Given the description of an element on the screen output the (x, y) to click on. 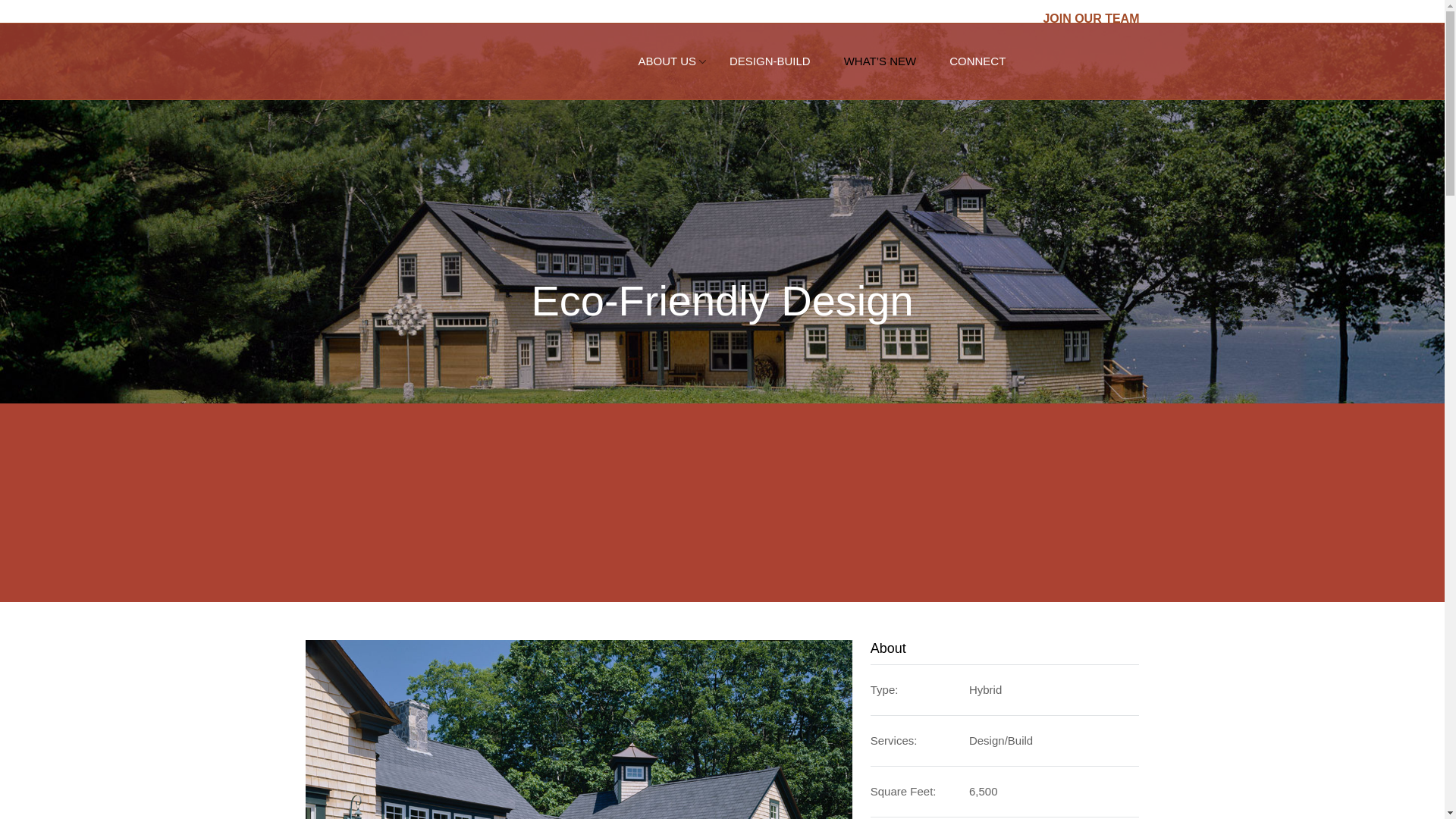
A select gallery of some of our work (770, 61)
ABOUT US (667, 61)
DESIGN-BUILD (770, 61)
Please get in touch (977, 61)
CONNECT (977, 61)
JOIN OUR TEAM (1090, 18)
